Given the description of an element on the screen output the (x, y) to click on. 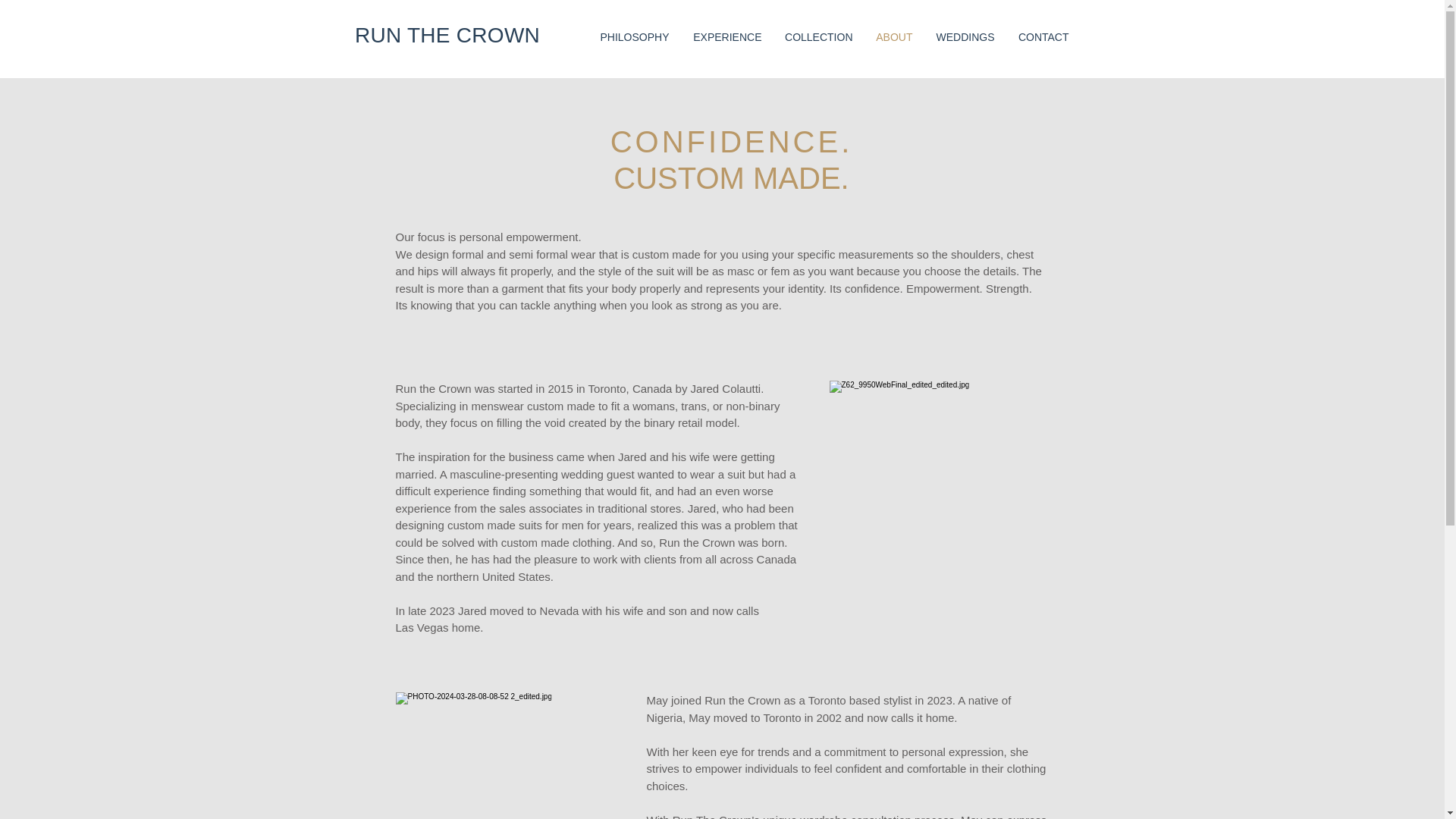
ABOUT (894, 36)
PHILOSOPHY (632, 36)
WEDDINGS (964, 36)
EXPERIENCE (727, 36)
CONTACT (1043, 36)
RUN THE CROWN (447, 34)
COLLECTION (818, 36)
